Given the description of an element on the screen output the (x, y) to click on. 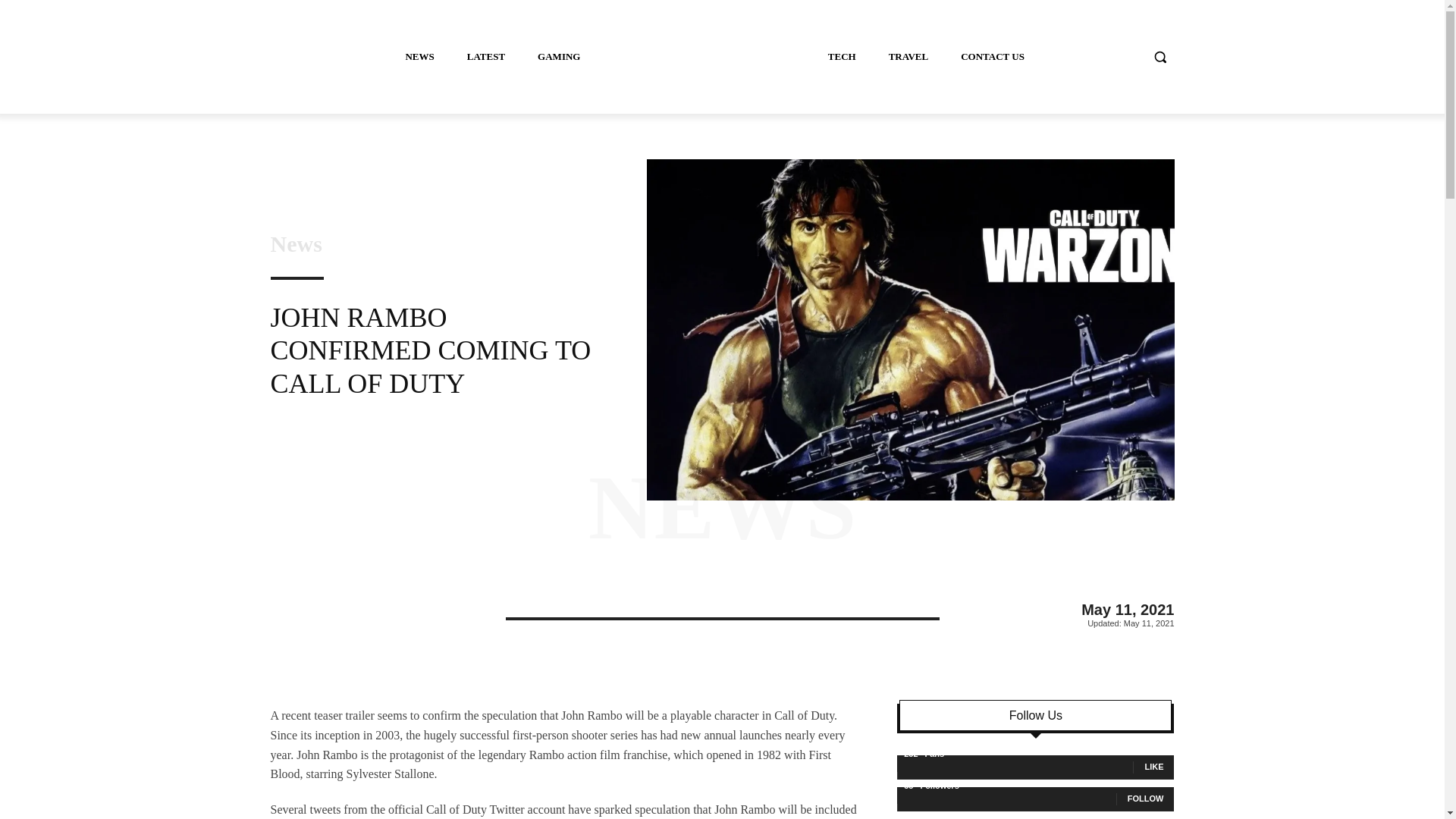
NEWS (722, 507)
CONTACT US (992, 56)
News (295, 243)
GAMING (559, 56)
LATEST (486, 56)
TRAVEL (908, 56)
